Given the description of an element on the screen output the (x, y) to click on. 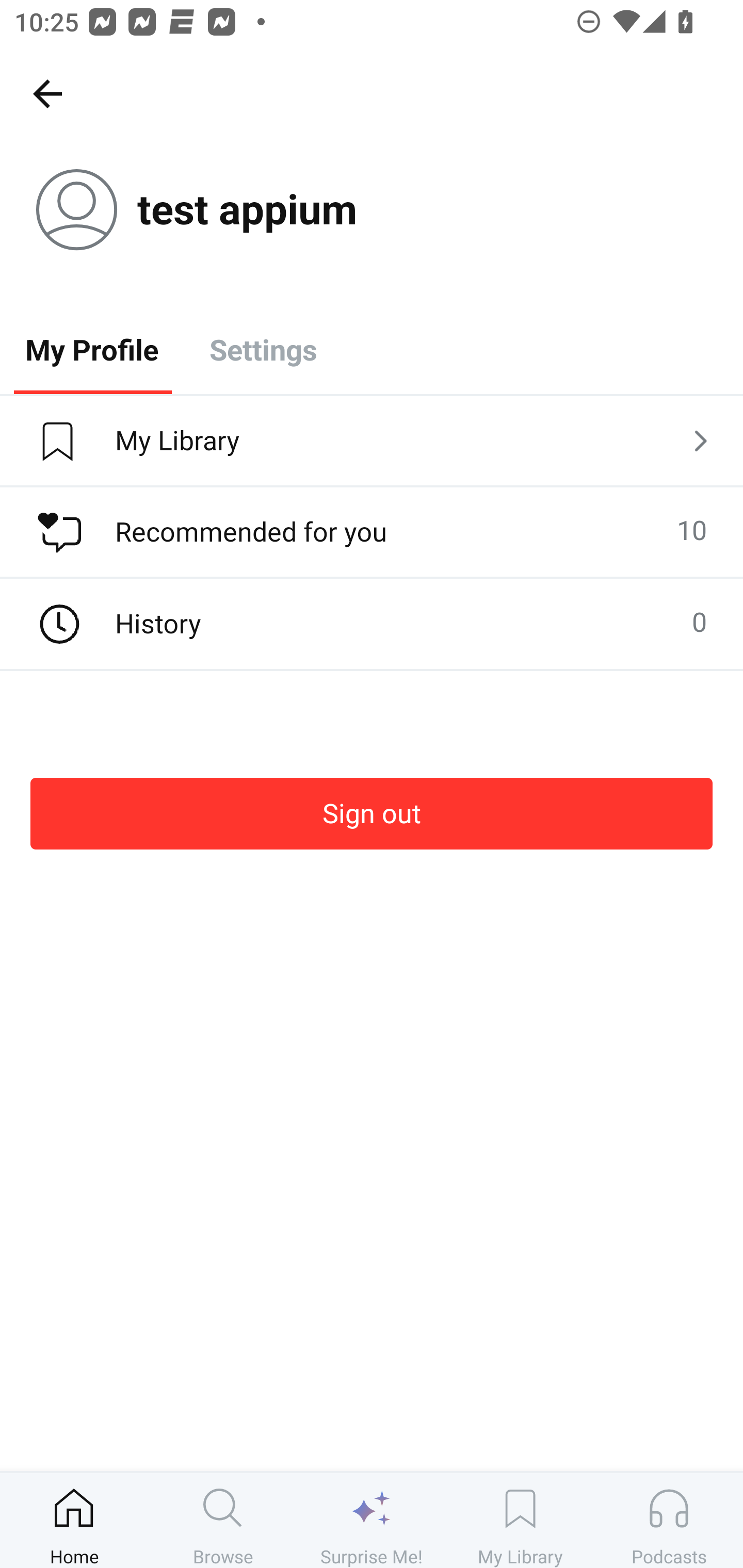
Home, back (47, 92)
My Profile (92, 348)
Settings (263, 348)
My Library (371, 441)
Recommended for you 10 (371, 532)
History 0 (371, 623)
Sign out (371, 813)
Home (74, 1520)
Browse (222, 1520)
Surprise Me! (371, 1520)
My Library (519, 1520)
Podcasts (668, 1520)
